Given the description of an element on the screen output the (x, y) to click on. 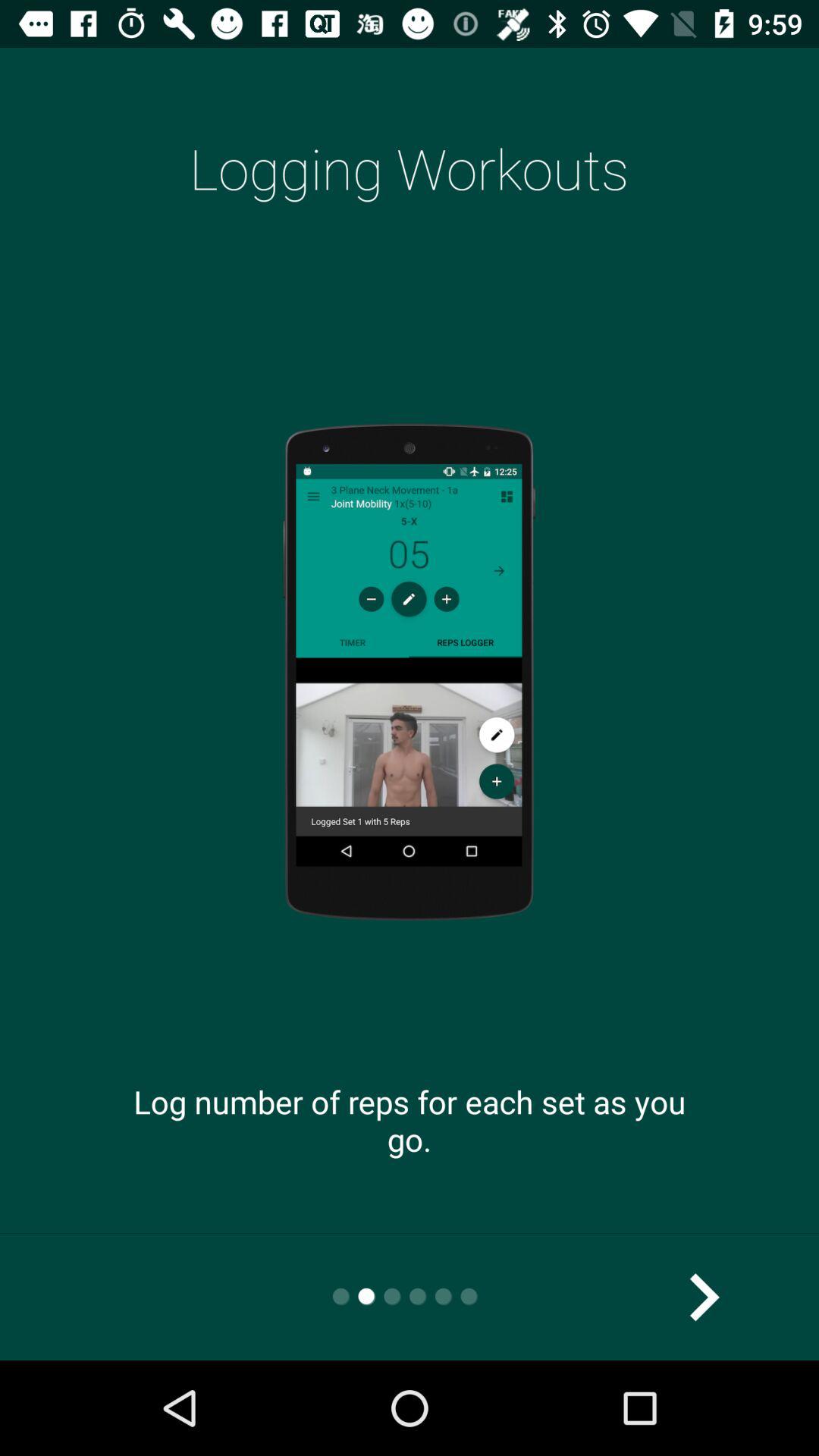
next page (703, 1296)
